Given the description of an element on the screen output the (x, y) to click on. 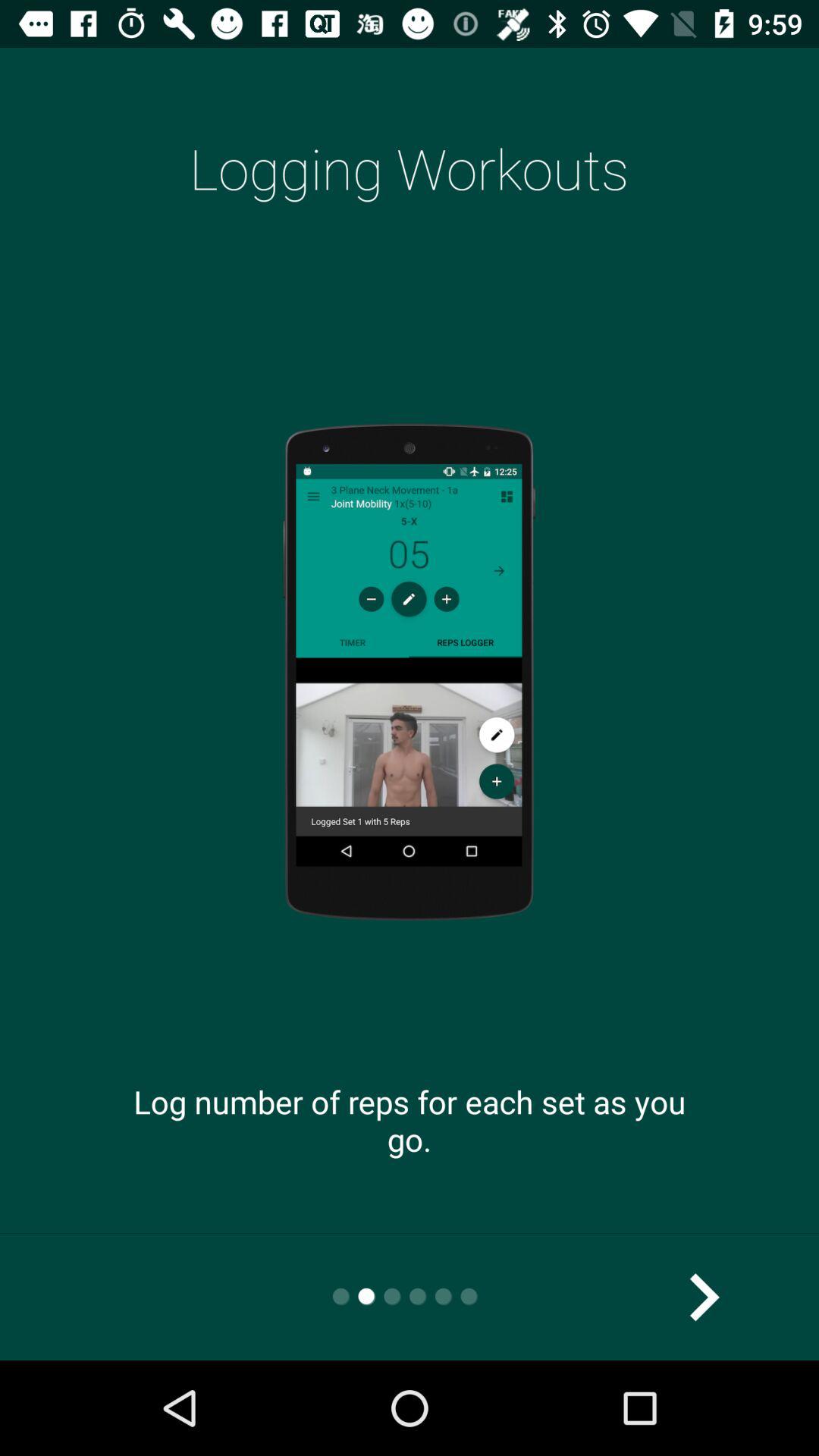
next page (703, 1296)
